Given the description of an element on the screen output the (x, y) to click on. 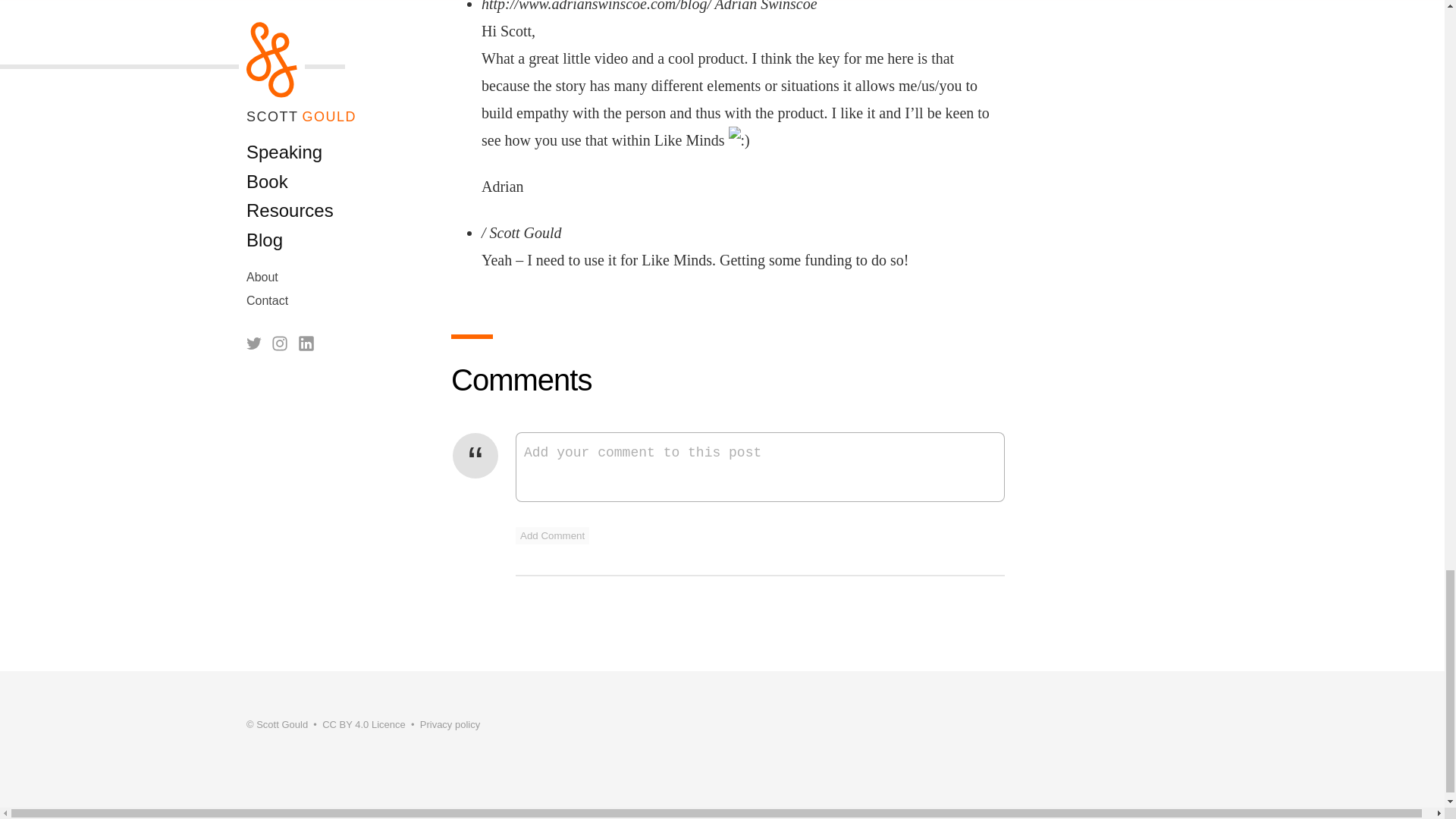
Add Comment (552, 535)
Scott Gould (281, 724)
CC BY 4.0 Licence (363, 724)
Privacy policy (450, 724)
Add Comment (552, 535)
